Given the description of an element on the screen output the (x, y) to click on. 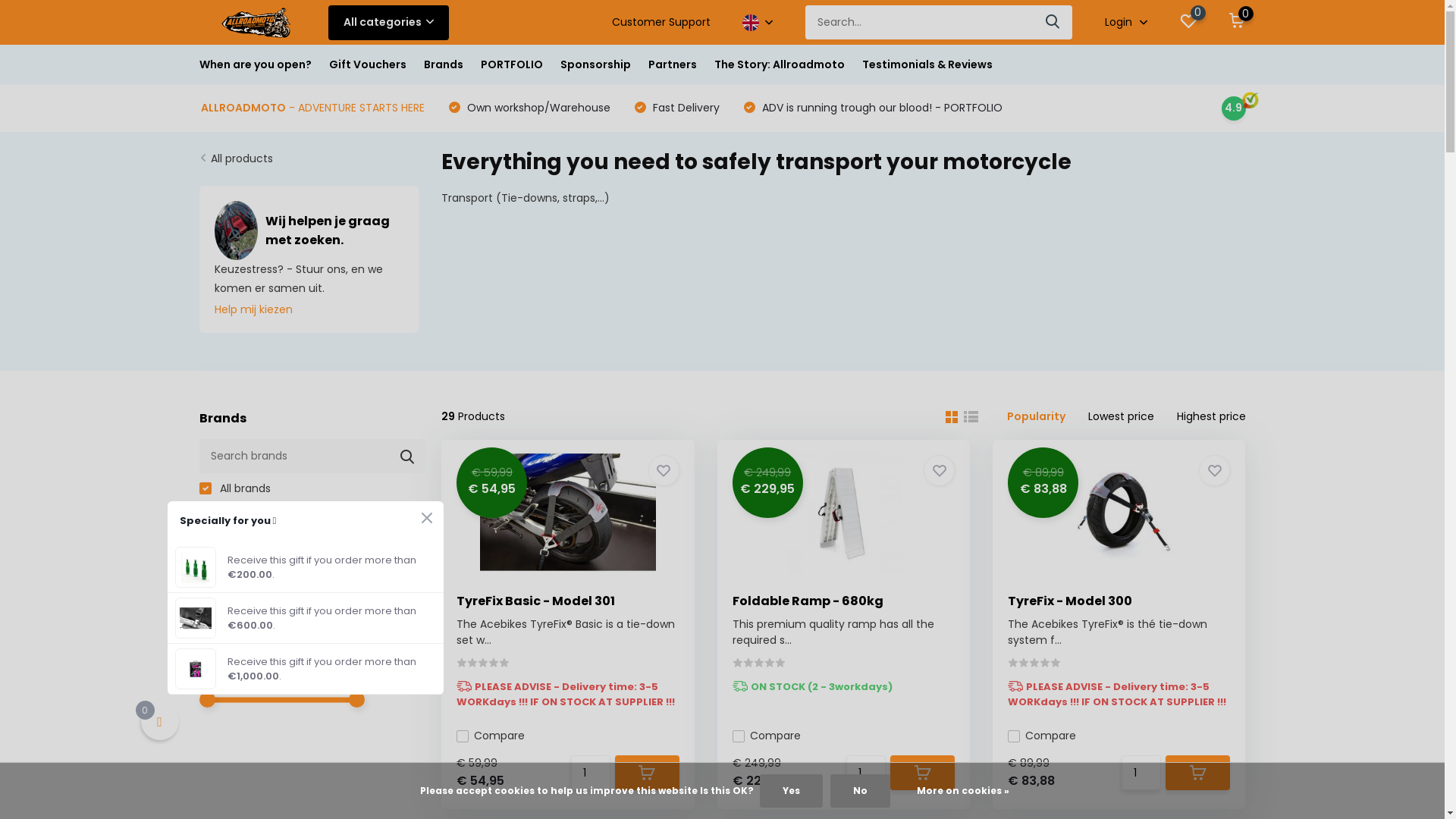
Brands Element type: text (442, 64)
Partners Element type: text (671, 64)
Search Element type: hover (1053, 22)
No Element type: text (860, 790)
ADV is running trough our blood! - PORTFOLIO Element type: text (879, 107)
Sponsorship Element type: text (594, 64)
Gift Vouchers Element type: text (367, 64)
TyreFix - Model 300 Element type: text (1069, 600)
The Story: Allroadmoto Element type: text (779, 64)
Login Element type: text (1125, 22)
Foldable Ramp - 680kg Element type: text (807, 600)
All products Element type: text (241, 158)
When are you open? Element type: text (254, 64)
Yes Element type: text (790, 790)
0 Element type: text (1187, 22)
Testimonials & Reviews Element type: text (926, 64)
4.9 Element type: text (1232, 108)
All categories Element type: text (387, 21)
Customer Support Element type: text (660, 22)
TyreFix Basic - Model 301 Element type: text (535, 600)
PORTFOLIO Element type: text (511, 64)
Help mij kiezen Element type: text (252, 308)
0 Element type: text (1236, 22)
